Given the description of an element on the screen output the (x, y) to click on. 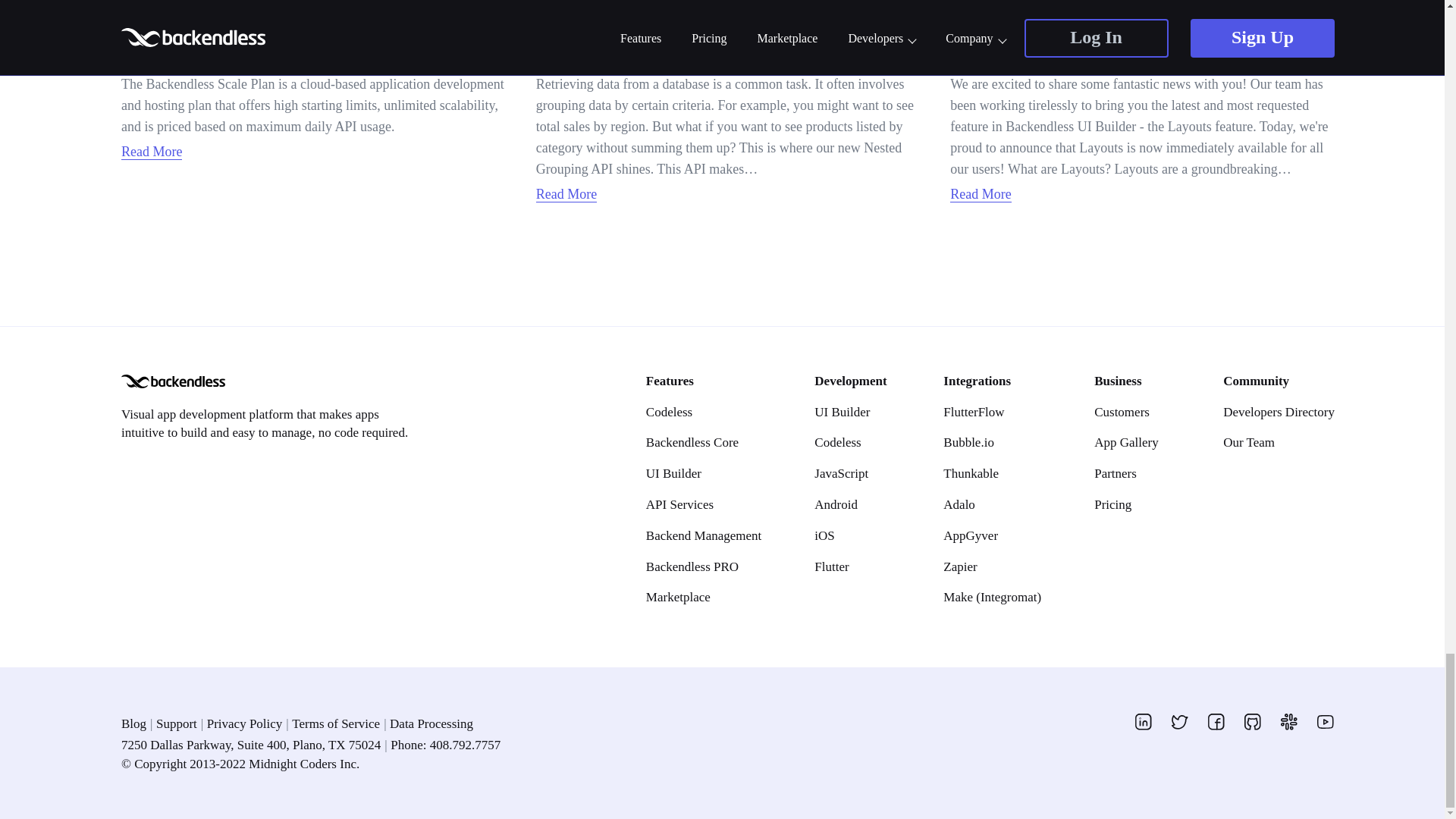
linkedin (1143, 721)
twitter (1179, 721)
facebook (1216, 721)
Backendless (172, 381)
youtube (1325, 721)
slack (1288, 721)
github (1252, 721)
